Given the description of an element on the screen output the (x, y) to click on. 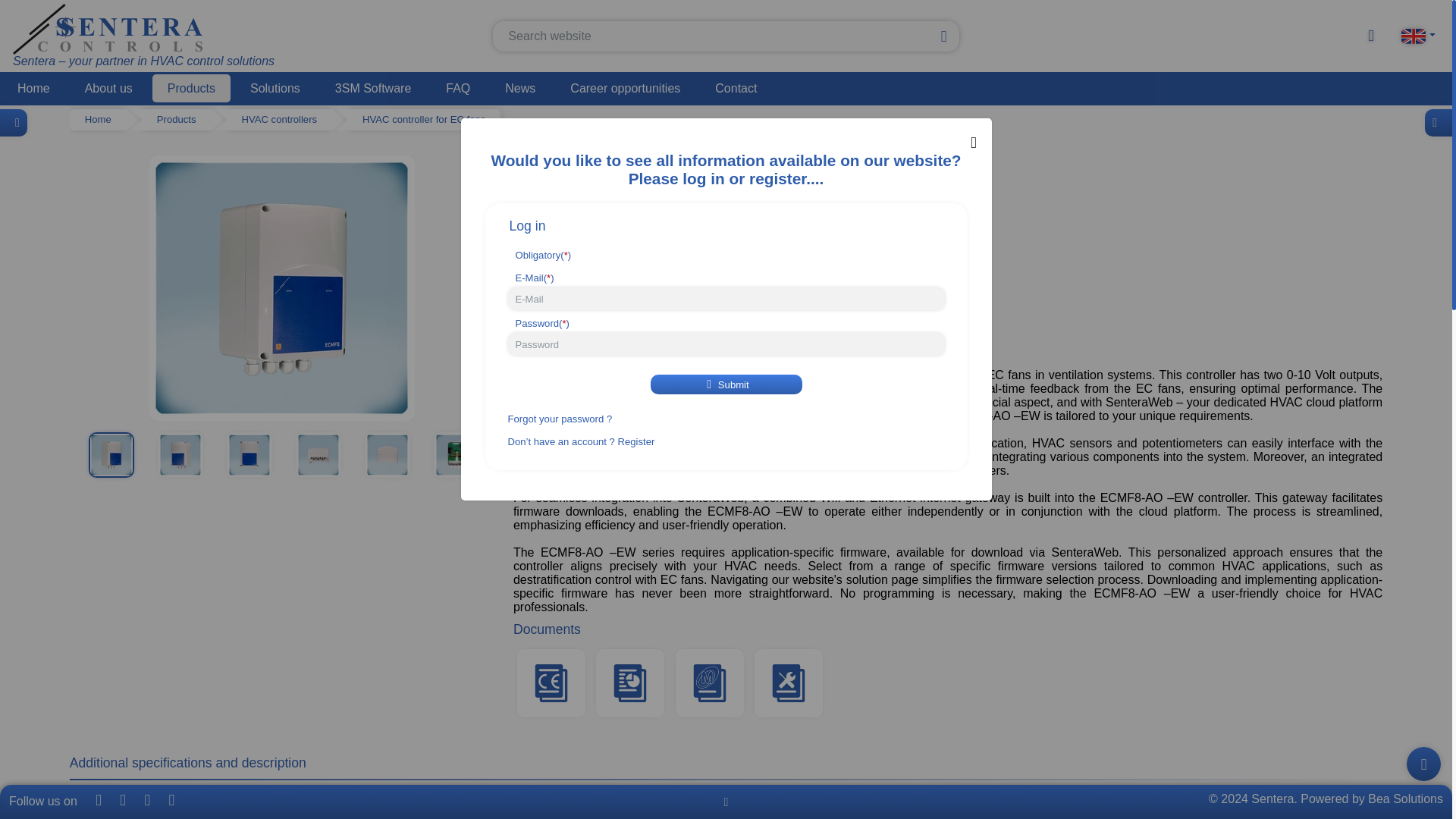
FAQ (457, 88)
Home (33, 88)
Products (191, 88)
Home (33, 88)
Contact (735, 88)
Products (176, 119)
HVAC controllers (280, 119)
About us (108, 88)
Sentera logo (107, 29)
About us (108, 88)
3SM Software (373, 88)
Career opportunities (624, 88)
Home (97, 119)
Sentera home page (143, 36)
News (519, 88)
